Given the description of an element on the screen output the (x, y) to click on. 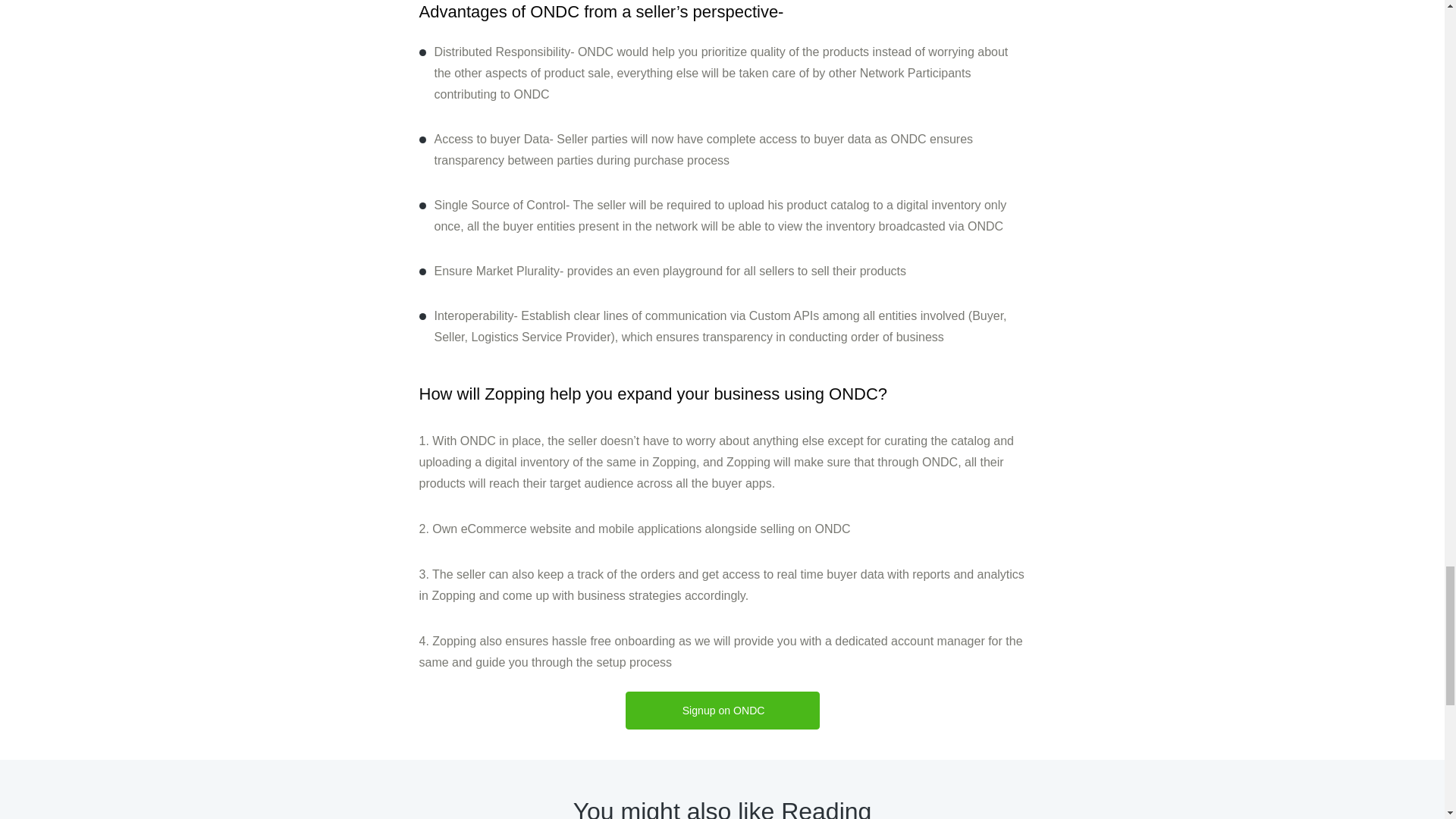
Signup on ONDC (723, 710)
